Given the description of an element on the screen output the (x, y) to click on. 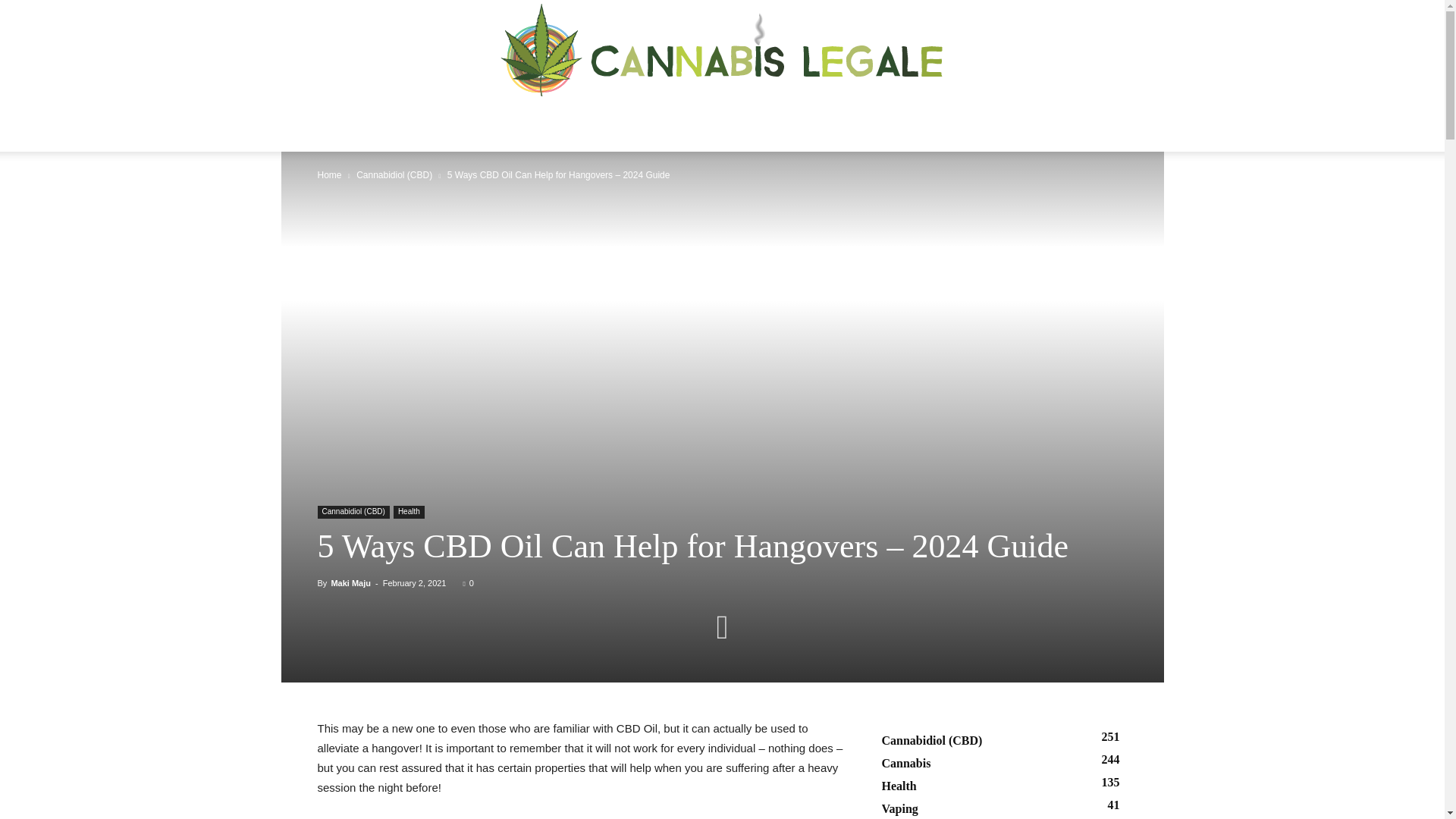
0 (468, 583)
Home (328, 174)
GADGETS (718, 124)
HOME (398, 124)
Health (409, 512)
SMOKING (971, 124)
CONTACT US (1062, 124)
EDUCATION (475, 124)
Maki Maju (350, 583)
HEALTH (558, 124)
GROWING (637, 124)
Cannabis Legale (721, 50)
LEGALIZE (889, 124)
